Given the description of an element on the screen output the (x, y) to click on. 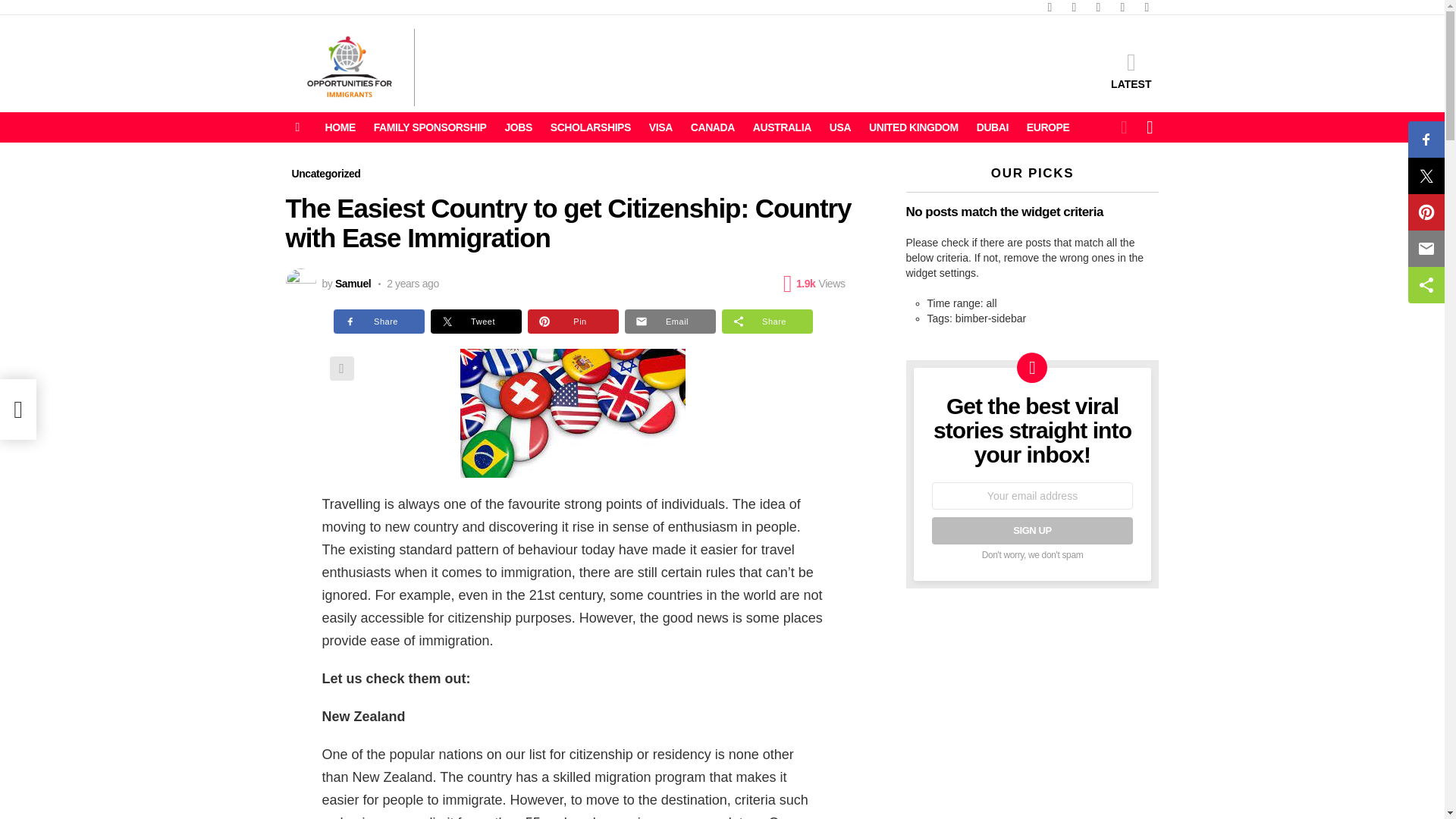
LATEST (1130, 69)
pinterest (1121, 7)
USA (840, 127)
Posts by Samuel (352, 283)
Menu (296, 126)
youtube (1146, 7)
DUBAI (992, 127)
AUSTRALIA (781, 127)
JOBS (517, 127)
VISA (660, 127)
Samuel (352, 283)
Share (341, 368)
UNITED KINGDOM (913, 127)
twitter (1073, 7)
SCHOLARSHIPS (591, 127)
